Given the description of an element on the screen output the (x, y) to click on. 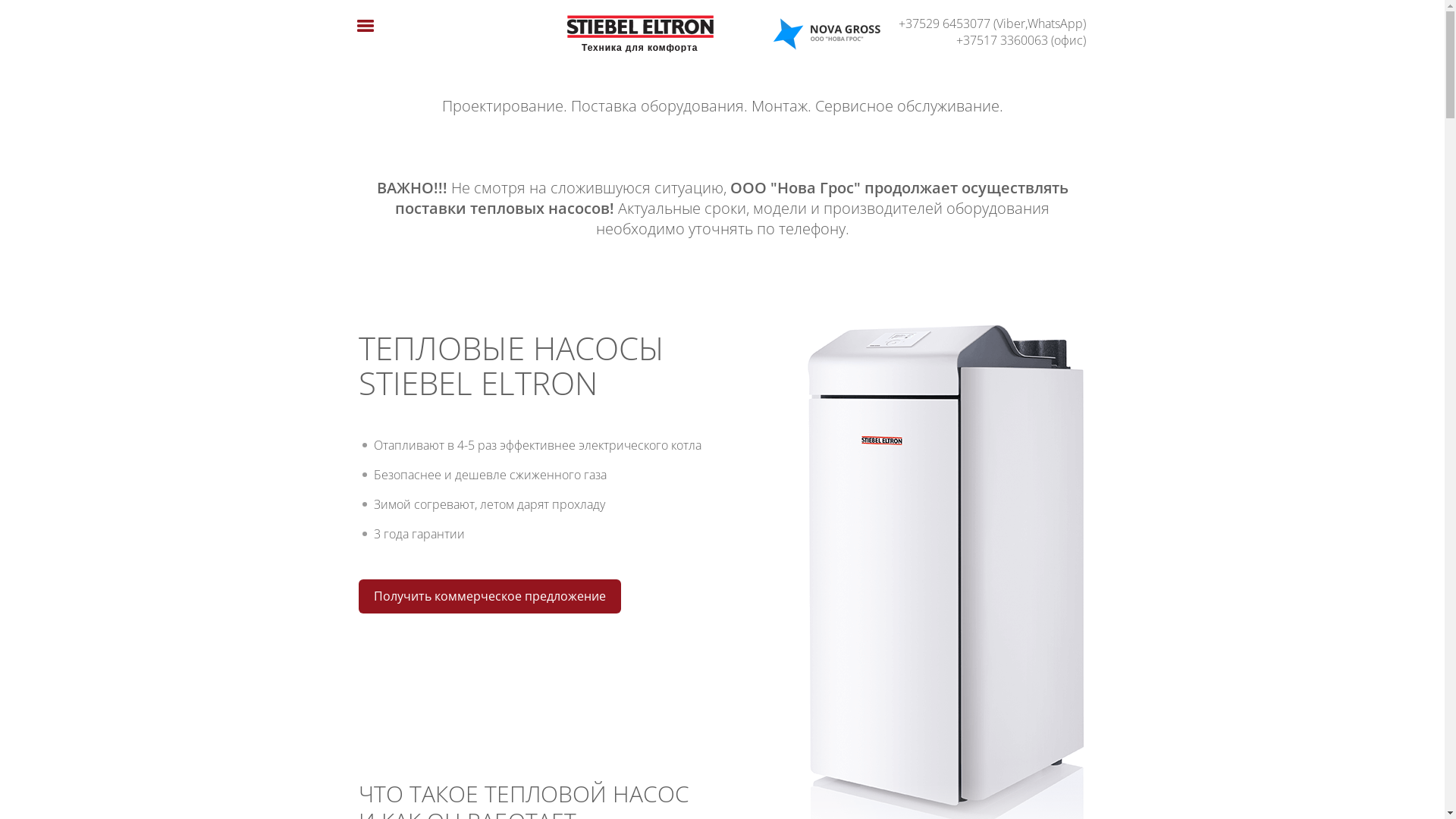
+37529 6453077 (Viber,WhatsApp) Element type: text (984, 23)
